Given the description of an element on the screen output the (x, y) to click on. 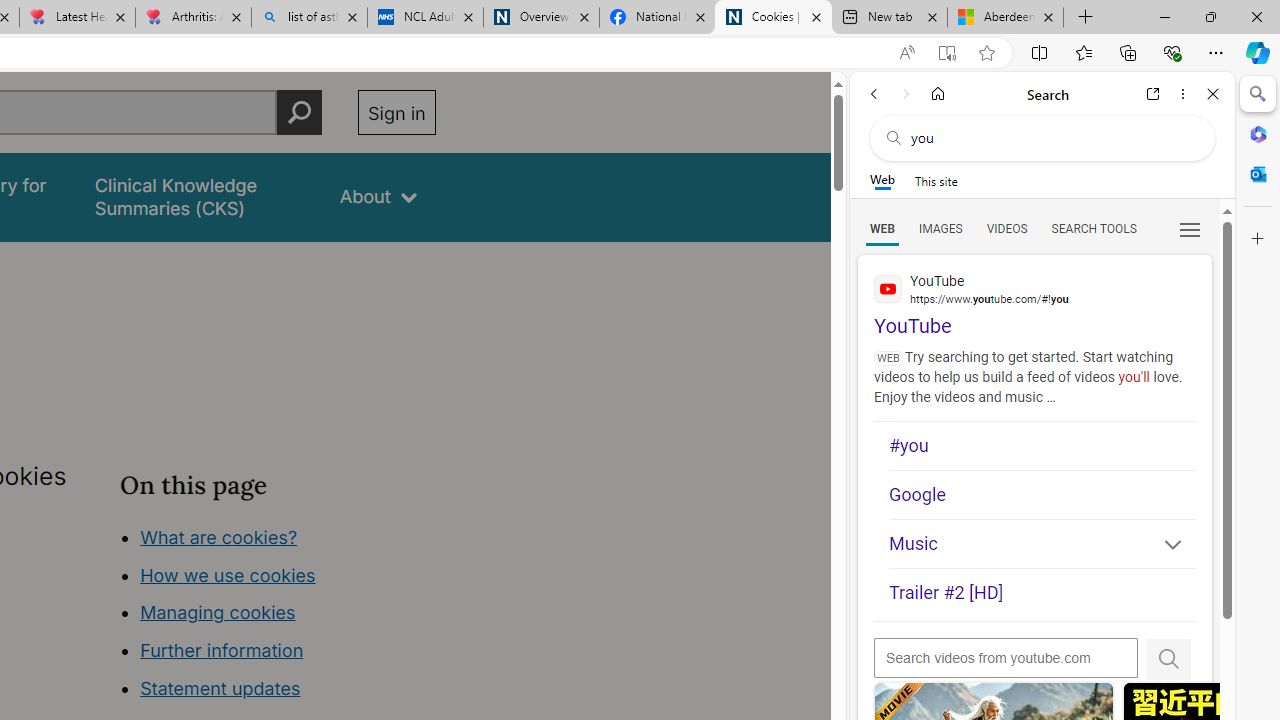
Web scope (882, 180)
list of asthma inhalers uk - Search (309, 17)
Search videos from youtube.com (1005, 657)
Google (1042, 494)
#you (1042, 445)
Music (1042, 543)
Close Customize pane (1258, 239)
About (378, 196)
Class: in-page-nav__list (277, 615)
